Given the description of an element on the screen output the (x, y) to click on. 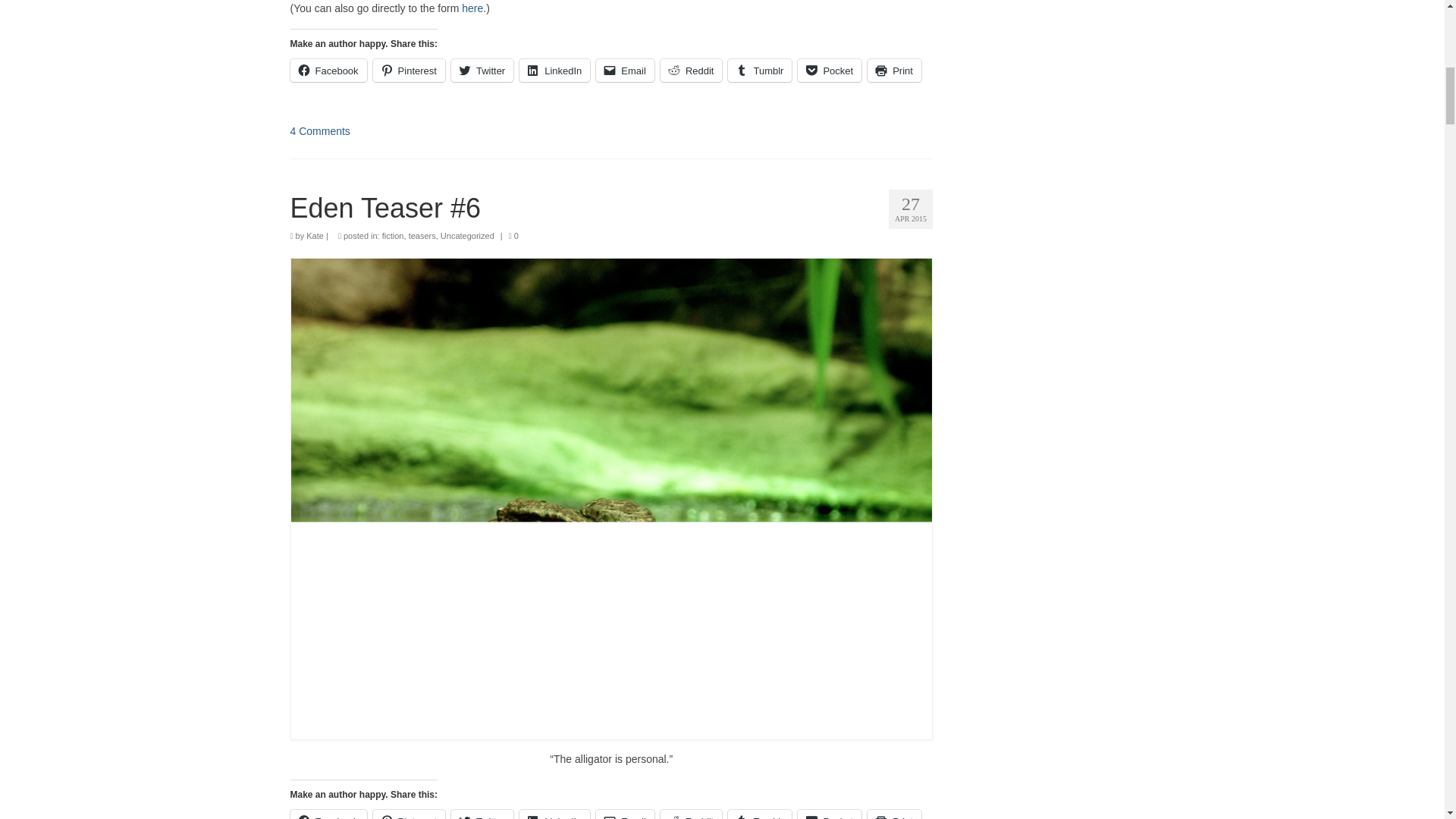
Click to print (894, 69)
Print (894, 69)
Facebook (327, 69)
fiction (392, 235)
Click to share on Pocket (829, 69)
Kate (314, 235)
Email (624, 69)
Click to share on Reddit (691, 69)
Facebook (327, 814)
Click to share on Reddit (691, 814)
